Given the description of an element on the screen output the (x, y) to click on. 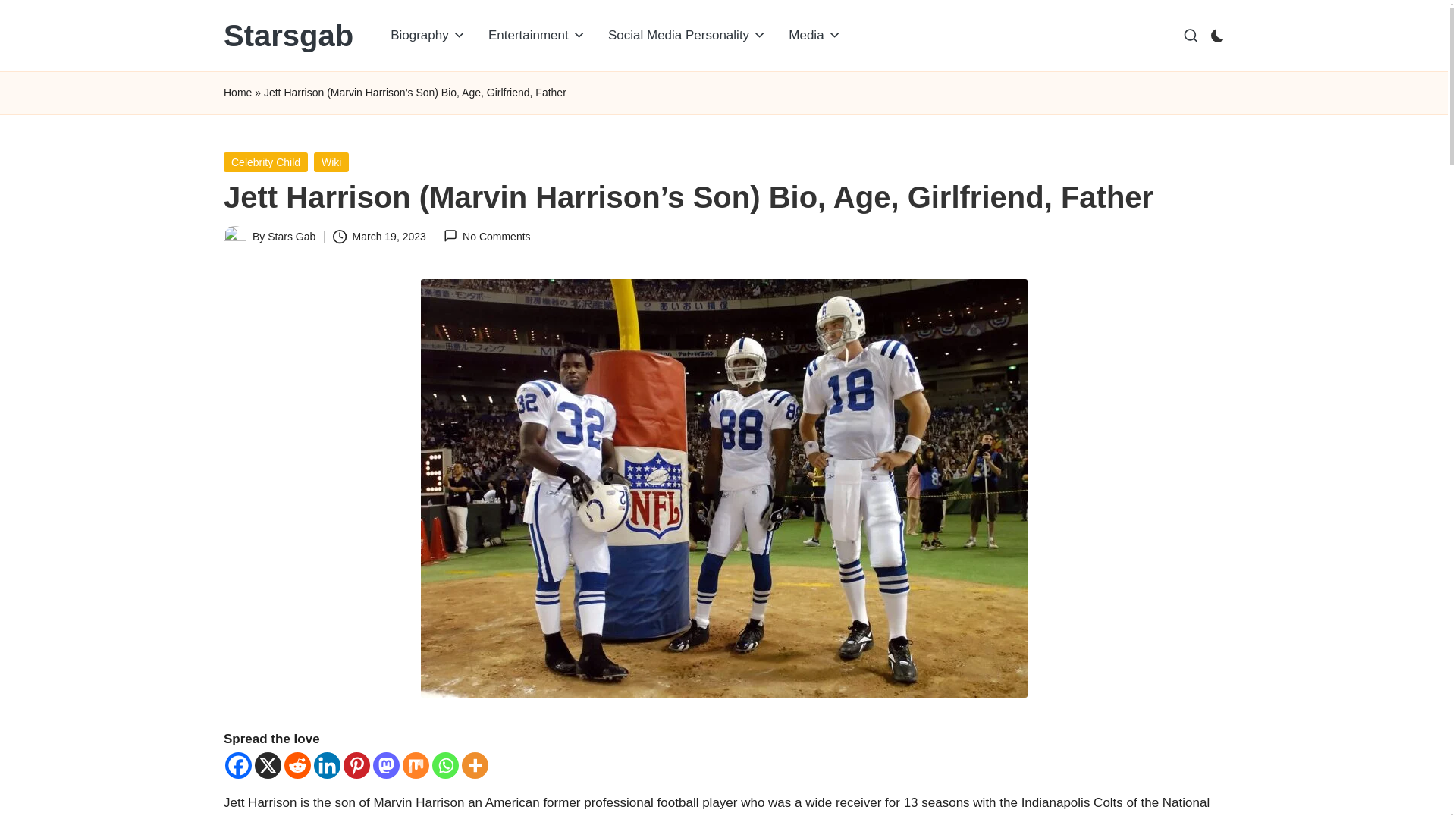
Reddit (297, 765)
Whatsapp (445, 765)
Mix (416, 765)
Starsgab (288, 35)
More (474, 765)
Social Media Personality (686, 35)
X (267, 765)
Facebook (238, 765)
Entertainment (536, 35)
Biography (428, 35)
Pinterest (356, 765)
View all posts by Stars Gab (291, 236)
Mastodon (385, 765)
Linkedin (327, 765)
